Given the description of an element on the screen output the (x, y) to click on. 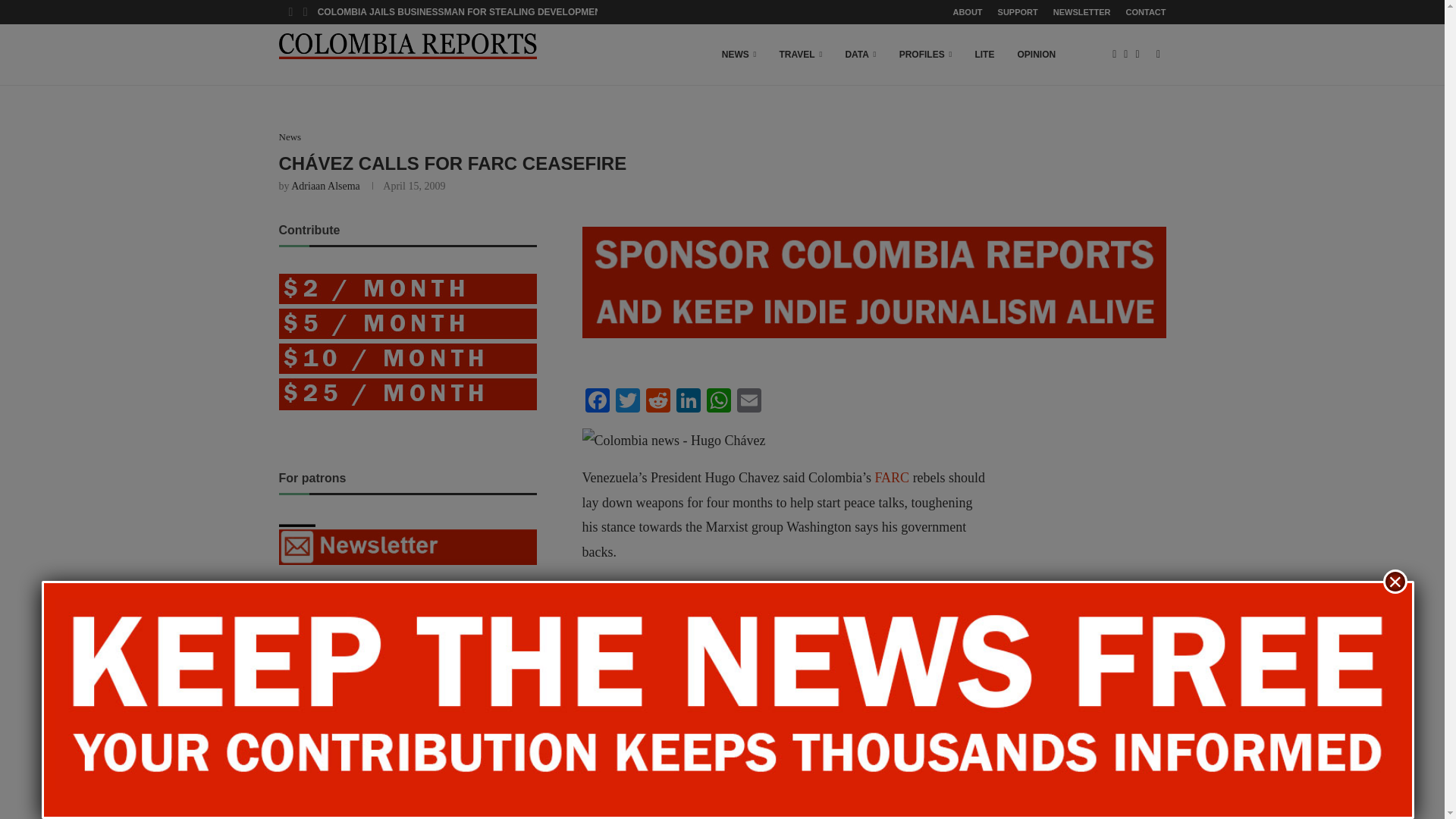
NEWSLETTER (1081, 12)
Reddit (657, 402)
NEWS (739, 54)
LinkedIn (687, 402)
Twitter (627, 402)
SUPPORT (1017, 12)
ABOUT (966, 12)
Facebook (597, 402)
WhatsApp (718, 402)
CONTACT (1145, 12)
COLOMBIA JAILS BUSINESSMAN FOR STEALING DEVELOPMENT FUNDS (478, 12)
TRAVEL (801, 54)
FARC profile (891, 477)
Email (748, 402)
